Given the description of an element on the screen output the (x, y) to click on. 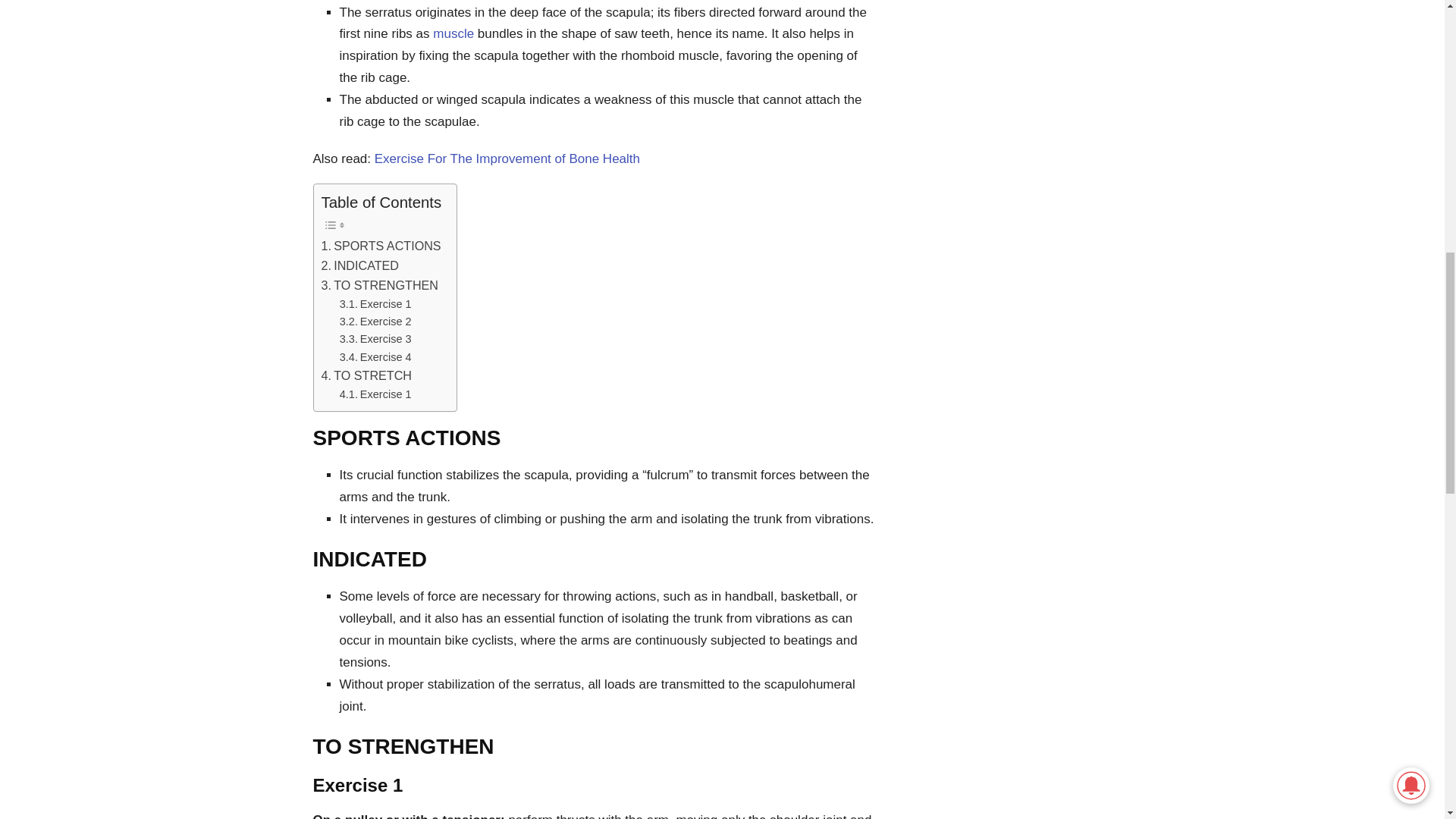
Exercise For The Improvement of Bone Health (507, 158)
SPORTS ACTIONS (381, 246)
INDICATED (359, 266)
Exercise 4 (375, 357)
Exercise 3 (375, 339)
Exercise 4 (375, 357)
TO STRENGTHEN (380, 285)
Exercise 1 (375, 394)
muscle (453, 33)
INDICATED (359, 266)
TO STRETCH (366, 375)
Exercise 2 (375, 321)
TO STRETCH (366, 375)
SPORTS ACTIONS (381, 246)
Exercise 1 (375, 303)
